Given the description of an element on the screen output the (x, y) to click on. 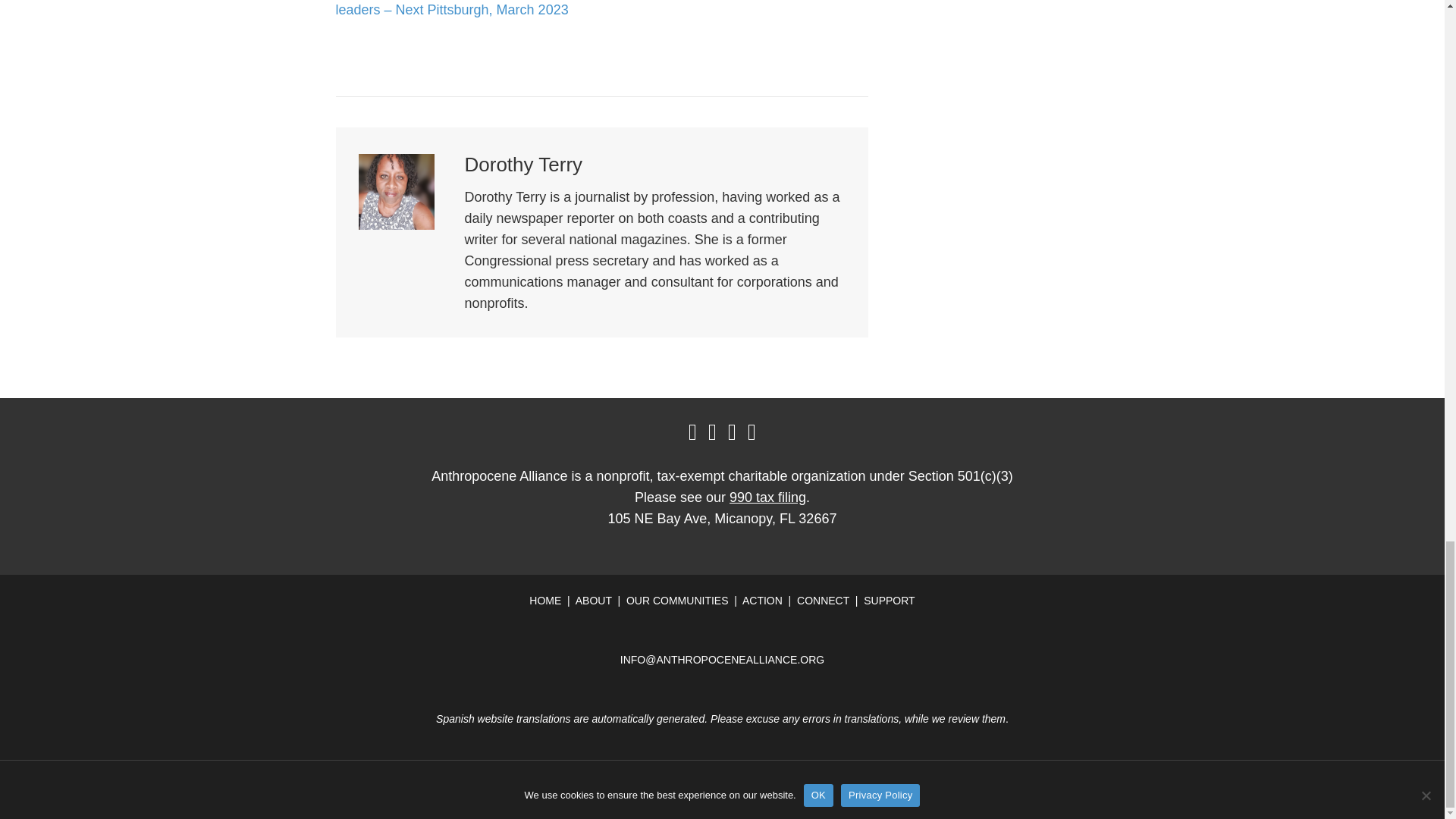
990 tax filing (767, 497)
CONNECT (822, 600)
ABOUT (593, 600)
HOME (544, 600)
OUR COMMUNITIES (677, 600)
ACTION (762, 600)
SUPPORT (888, 600)
